Given the description of an element on the screen output the (x, y) to click on. 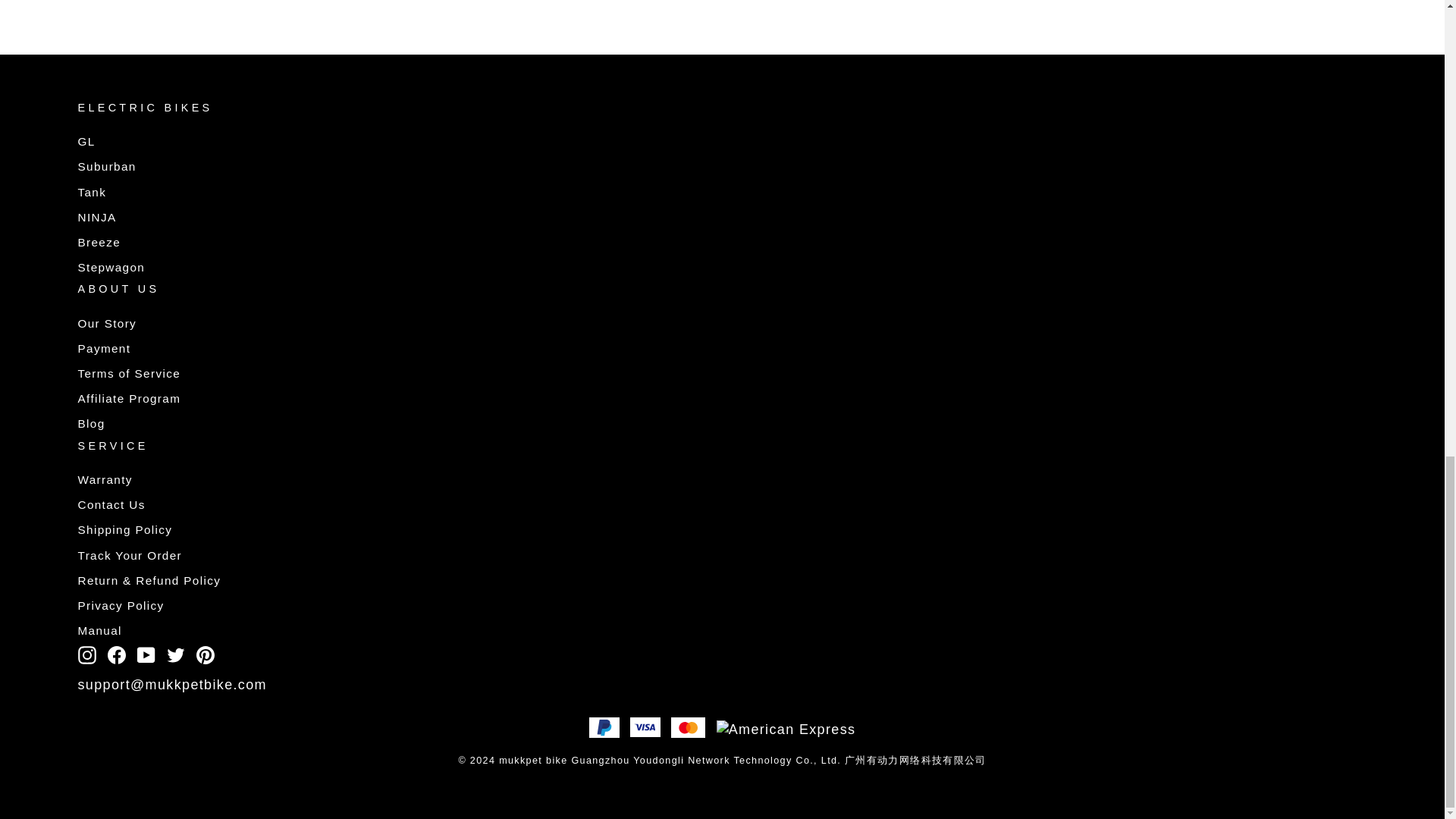
mukkpet bike on YouTube (145, 653)
mukkpet bike on Instagram (86, 653)
mukkpet bike on Facebook (116, 653)
mukkpet bike on Twitter (175, 653)
mukkpet bike on Pinterest (204, 653)
